Given the description of an element on the screen output the (x, y) to click on. 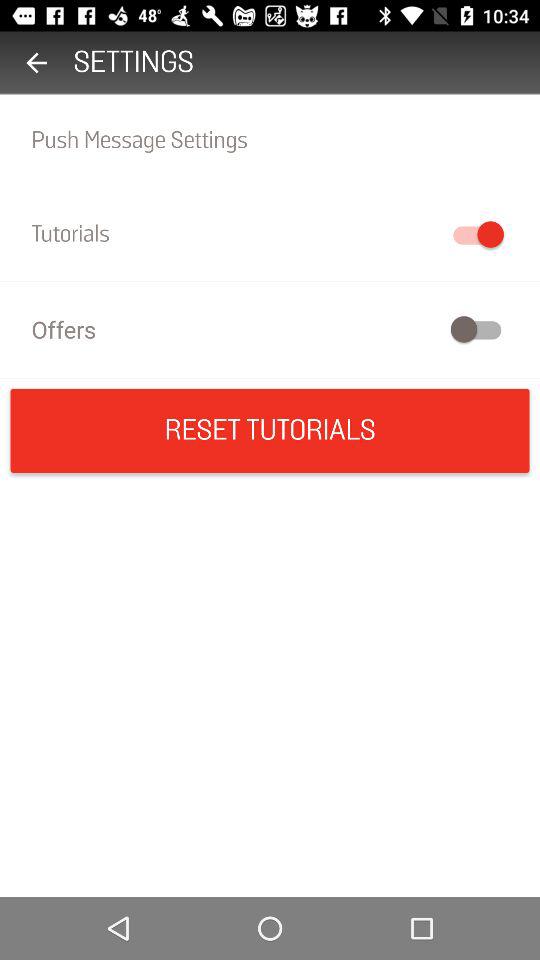
flip to the push message settings (270, 140)
